Given the description of an element on the screen output the (x, y) to click on. 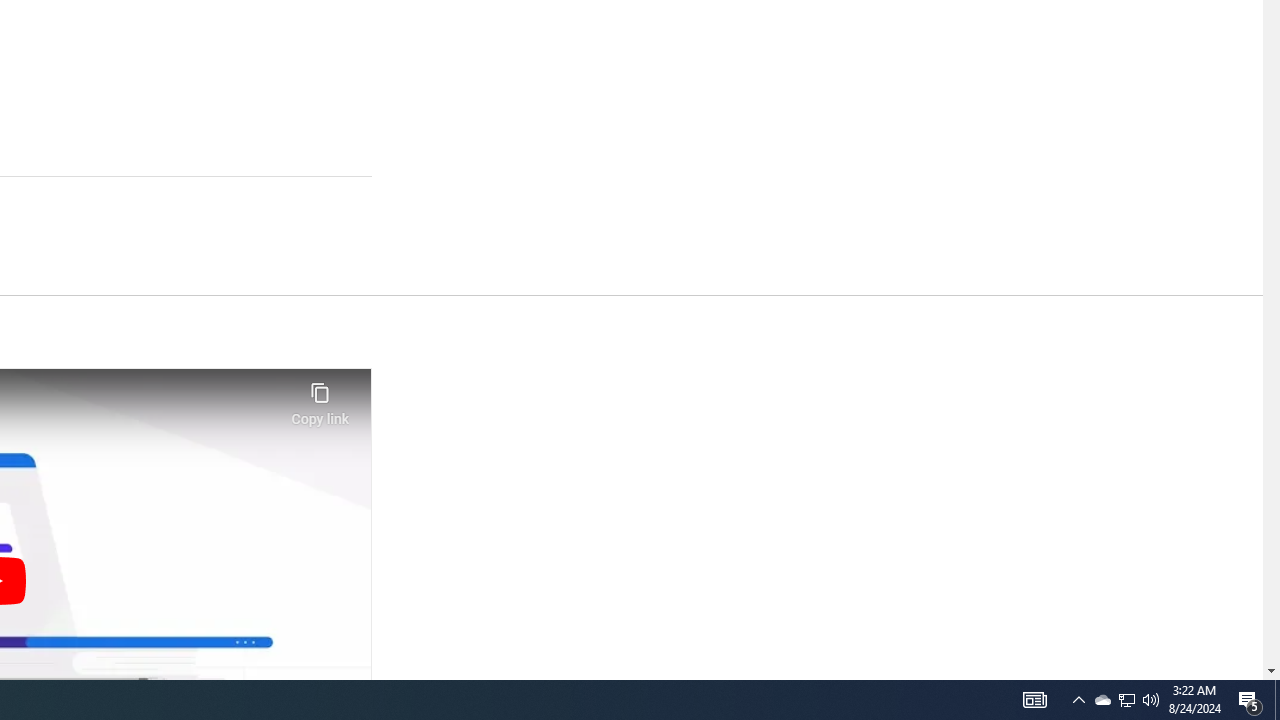
Copy link (319, 398)
